Given the description of an element on the screen output the (x, y) to click on. 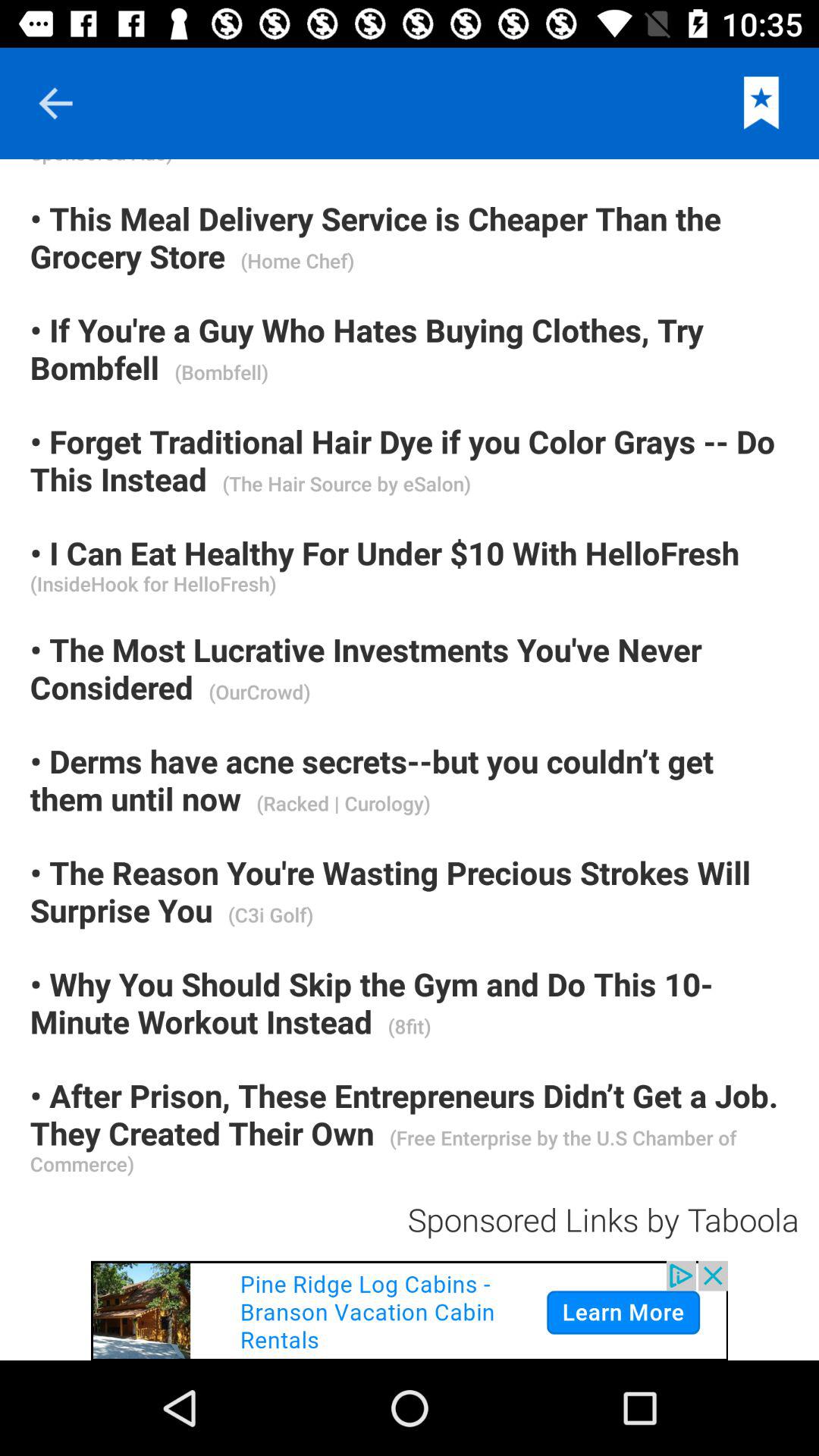
open bookmarks (761, 102)
